Given the description of an element on the screen output the (x, y) to click on. 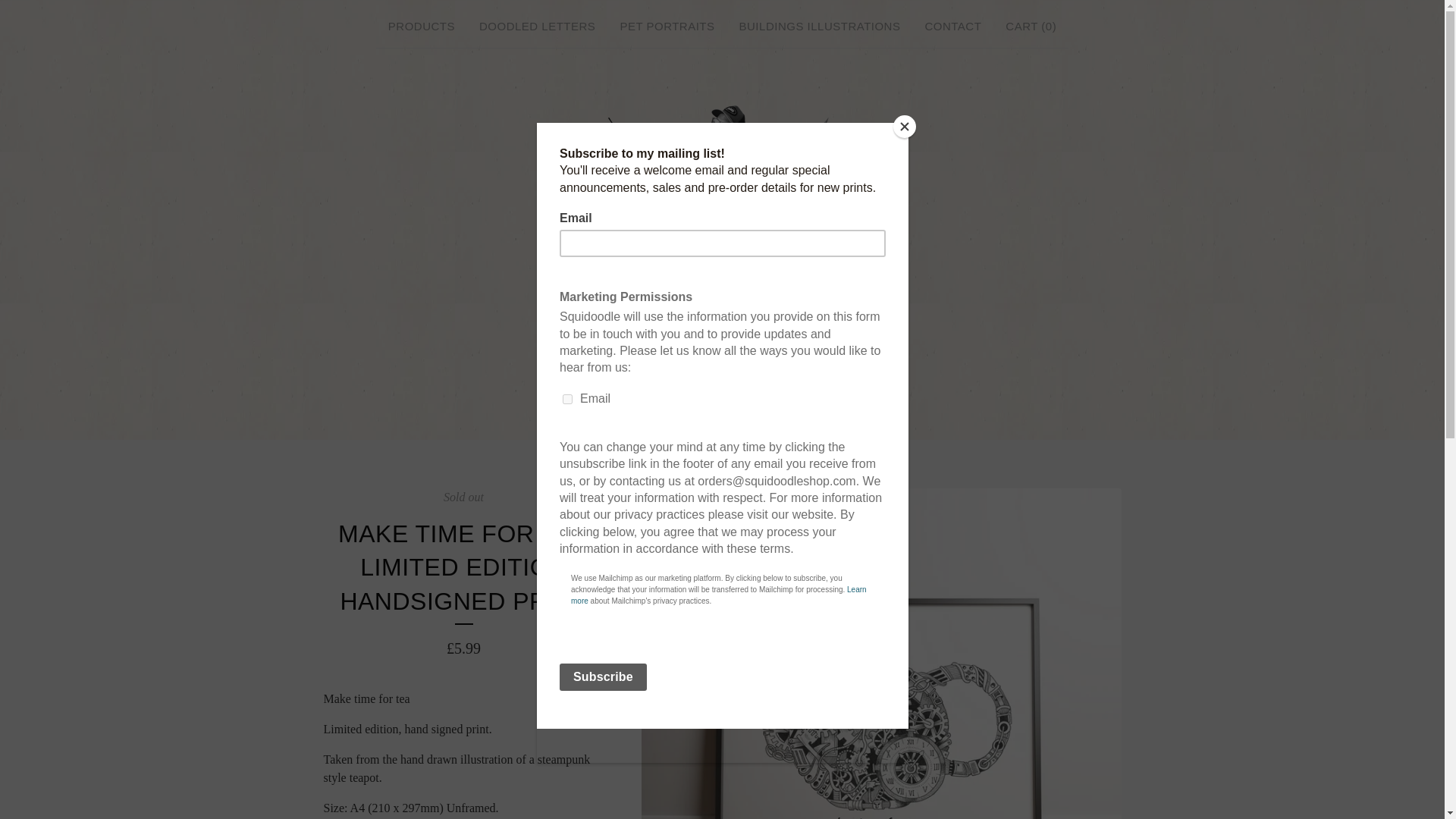
CONTACT (952, 26)
Home (721, 241)
PRODUCTS (421, 26)
View Buildings Illustrations (820, 26)
View Pet Portraits (666, 26)
BUILDINGS ILLUSTRATIONS (820, 26)
View Doodled Letters (537, 26)
PET PORTRAITS (666, 26)
DOODLED LETTERS (537, 26)
